Given the description of an element on the screen output the (x, y) to click on. 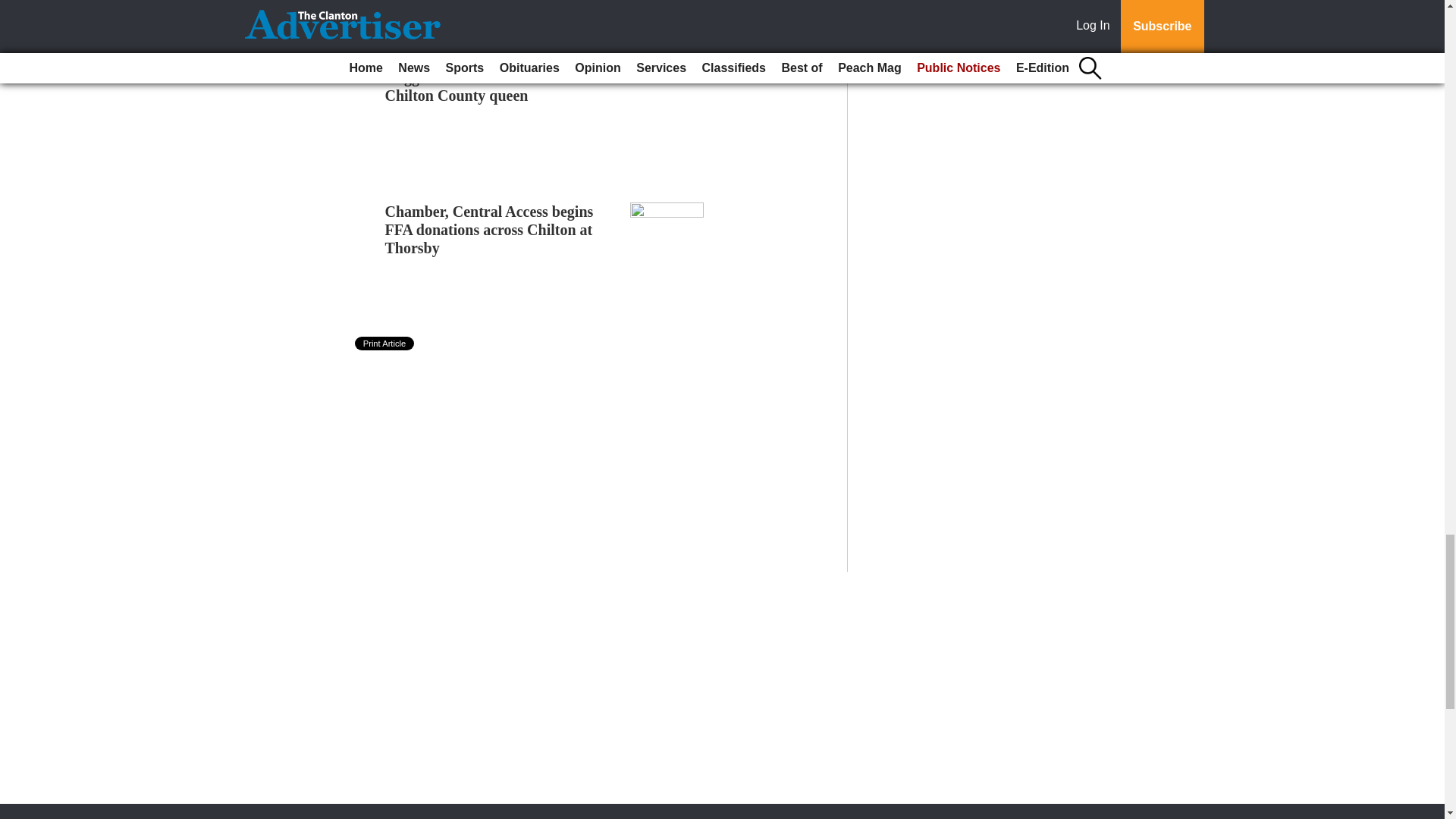
Haggard crowned as new Miss Chilton County queen (484, 86)
Print Article (384, 343)
Haggard crowned as new Miss Chilton County queen (484, 86)
